Given the description of an element on the screen output the (x, y) to click on. 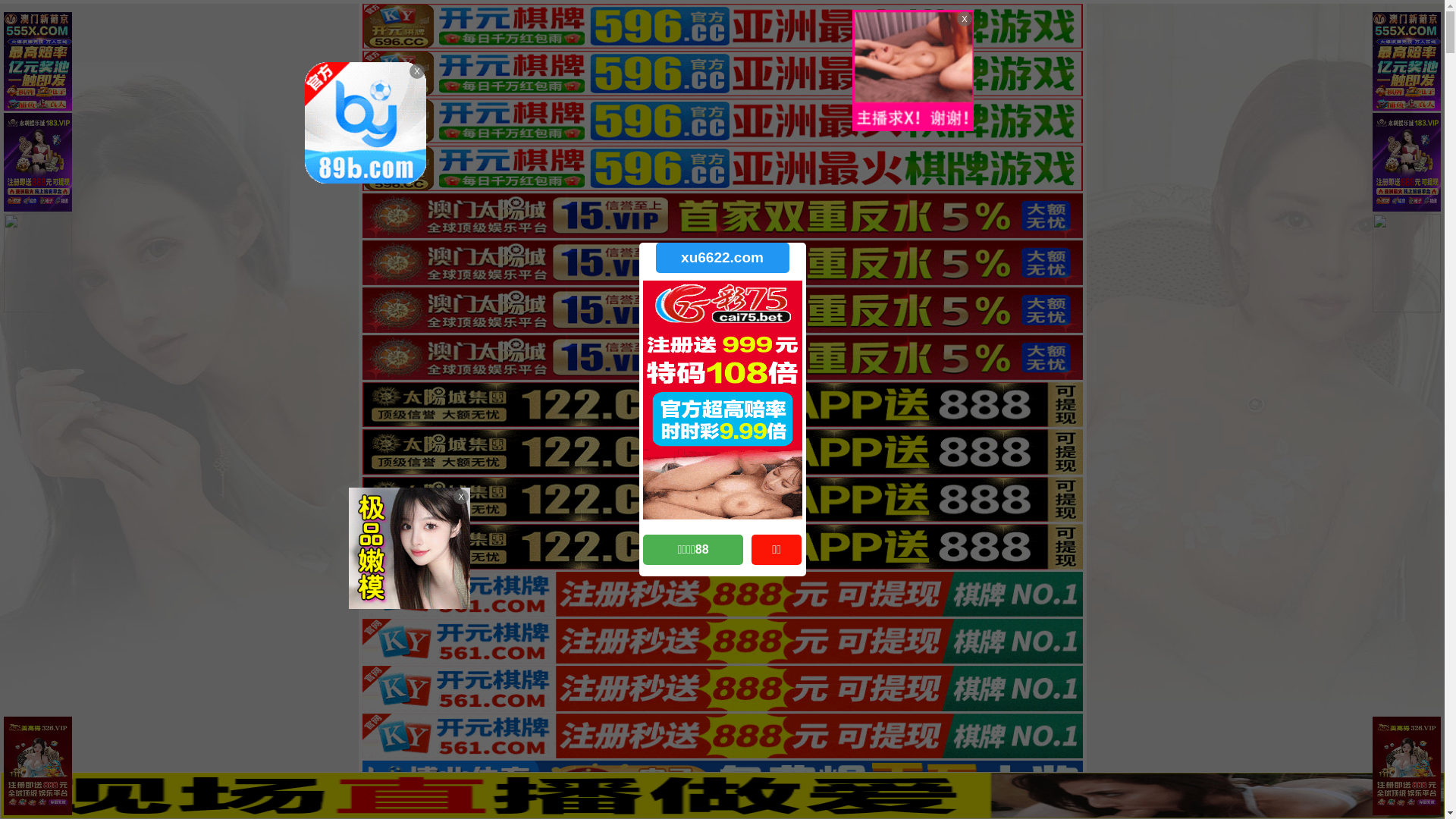
xu6622.com Element type: text (721, 257)
X Element type: text (1430, 789)
